Given the description of an element on the screen output the (x, y) to click on. 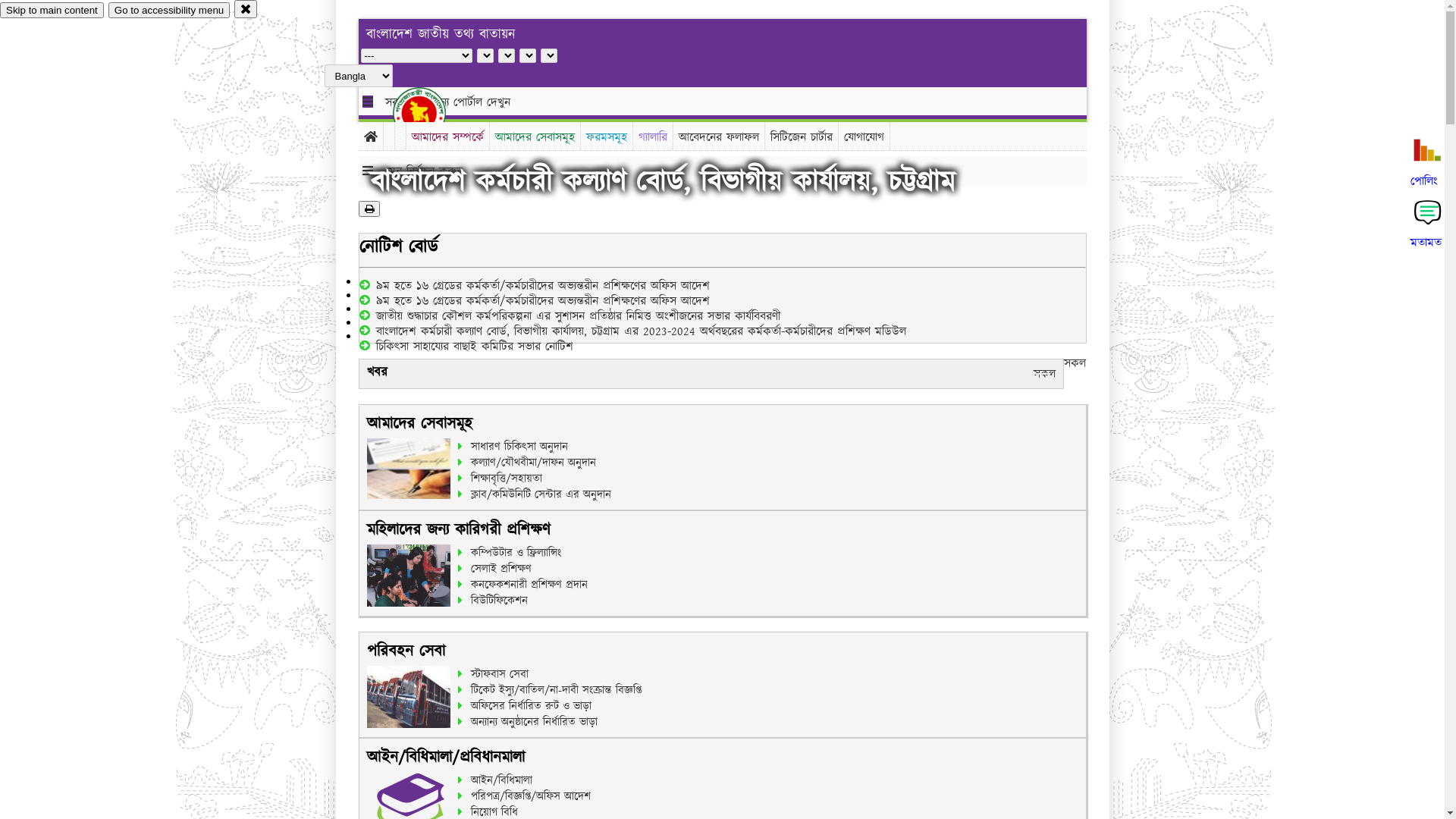

                
             Element type: hover (431, 112)
close Element type: hover (245, 9)
Go to accessibility menu Element type: text (168, 10)
Skip to main content Element type: text (51, 10)
